Given the description of an element on the screen output the (x, y) to click on. 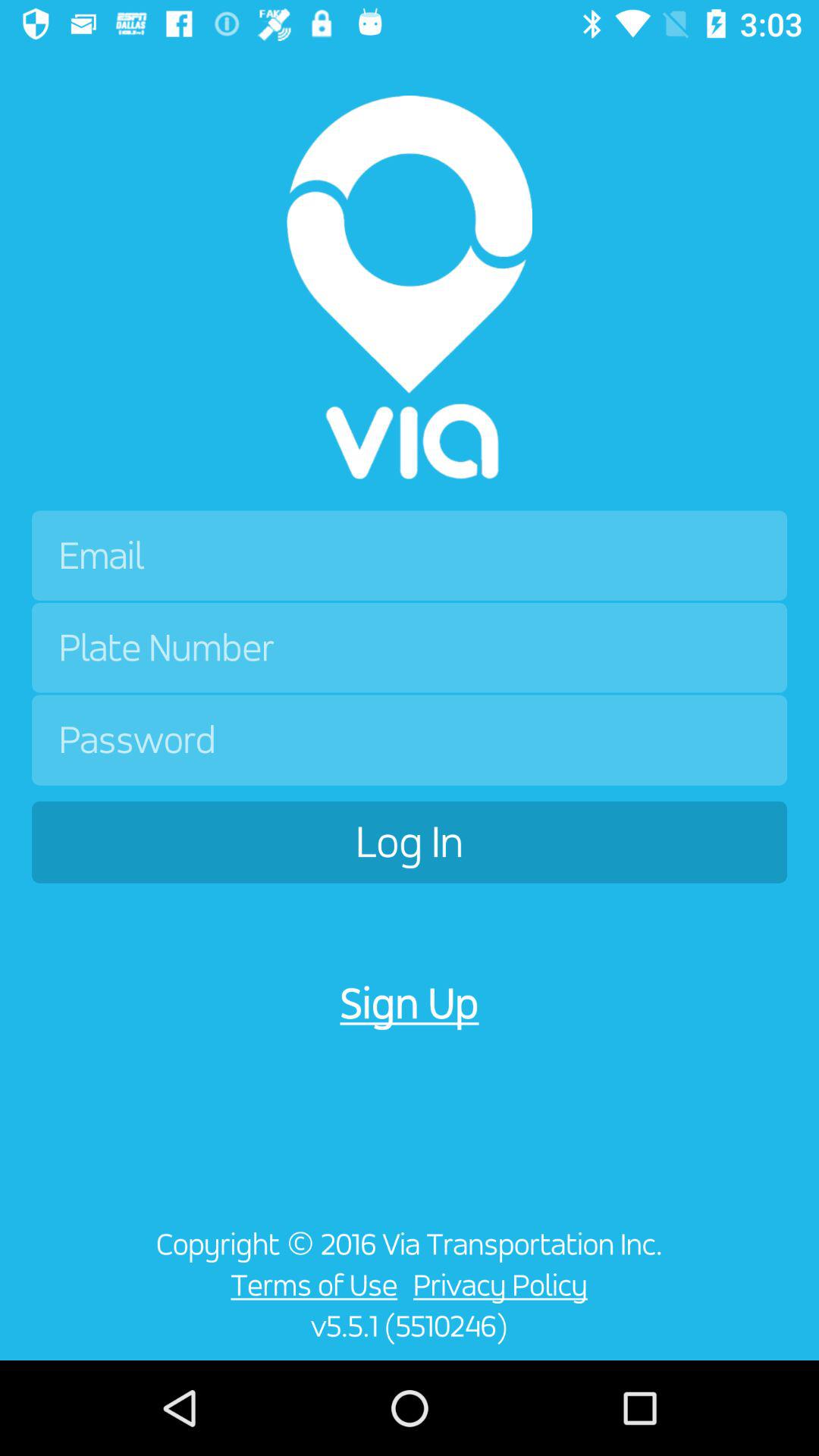
launch the privacy policy (504, 1284)
